Given the description of an element on the screen output the (x, y) to click on. 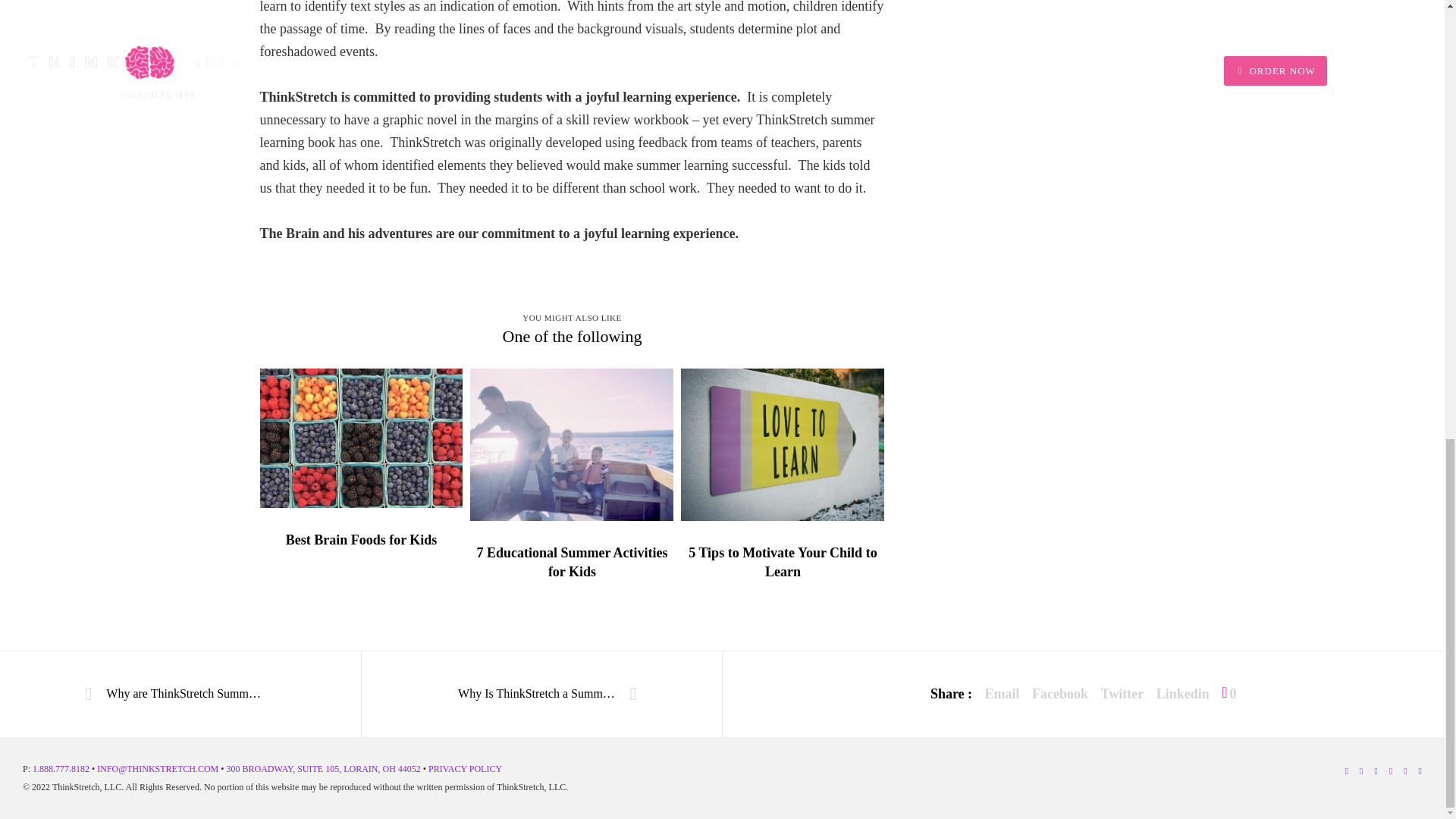
5 Tips to Motivate Your Child to Learn (782, 562)
Best Brain Foods for Kids (361, 539)
Email (1002, 693)
7 Educational Summer Activities for Kids (571, 562)
Why Is ThinkStretch a Summer Program, Not Just a Workbook? (541, 694)
Why are ThinkStretch Summer Workbooks Pressed Thin? (180, 694)
